Given the description of an element on the screen output the (x, y) to click on. 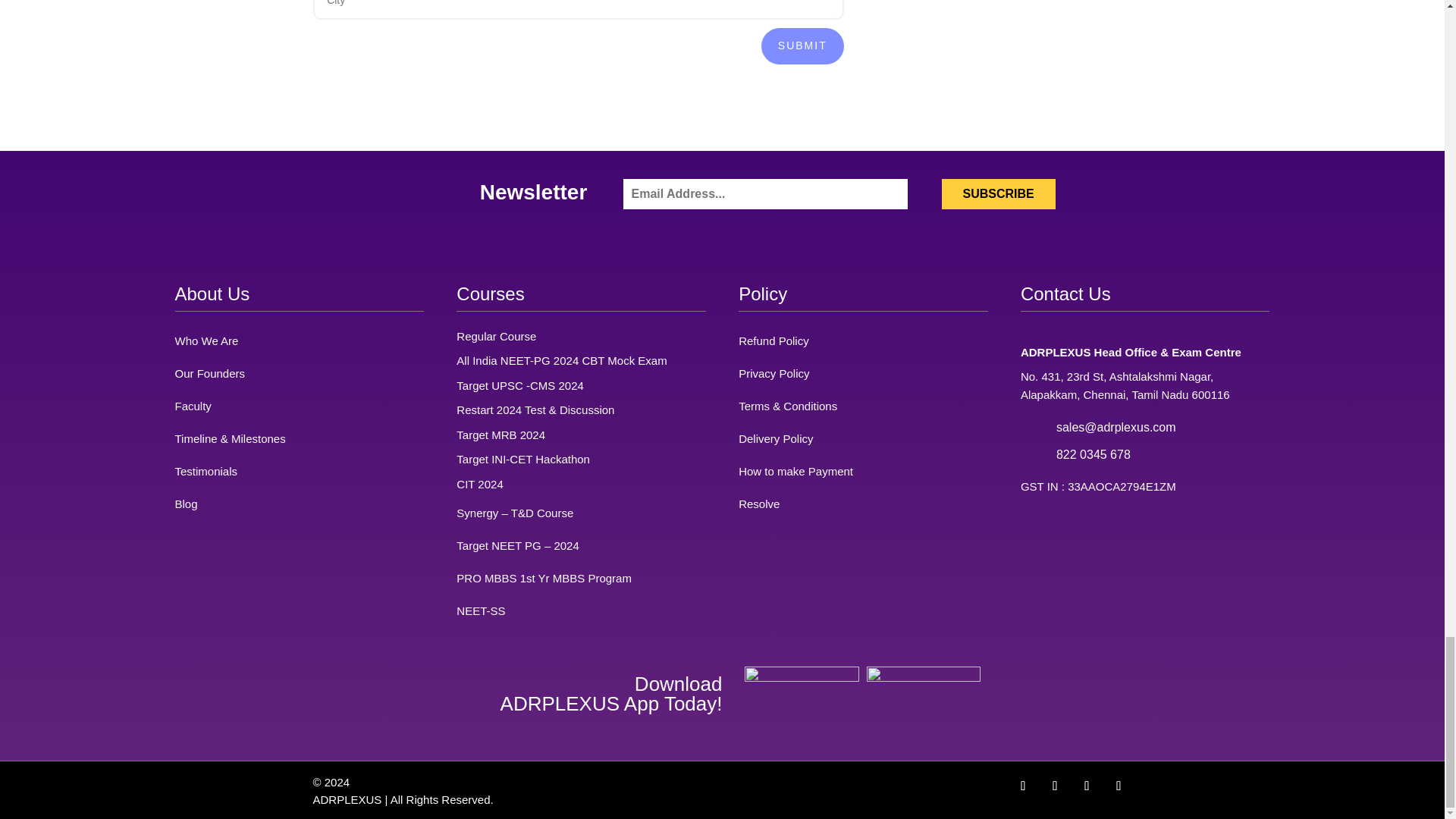
Follow on Instagram (1086, 786)
Follow on Youtube (1118, 786)
SUBSCRIBE (998, 194)
Follow on Facebook (1022, 786)
google-play-btn (801, 685)
Follow on X (1054, 786)
app-store-btn (922, 685)
